Given the description of an element on the screen output the (x, y) to click on. 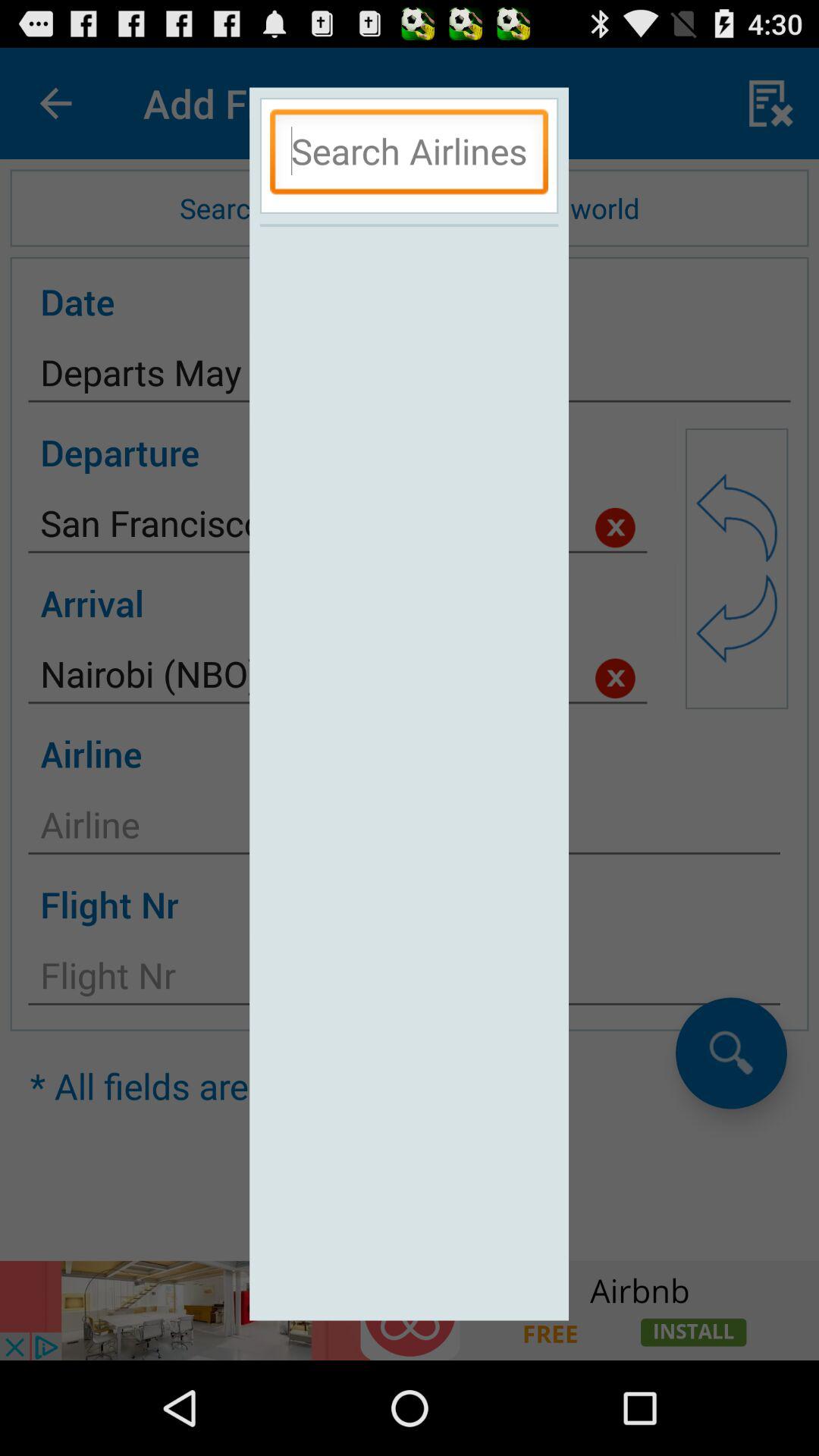
text box airline search (409, 155)
